Given the description of an element on the screen output the (x, y) to click on. 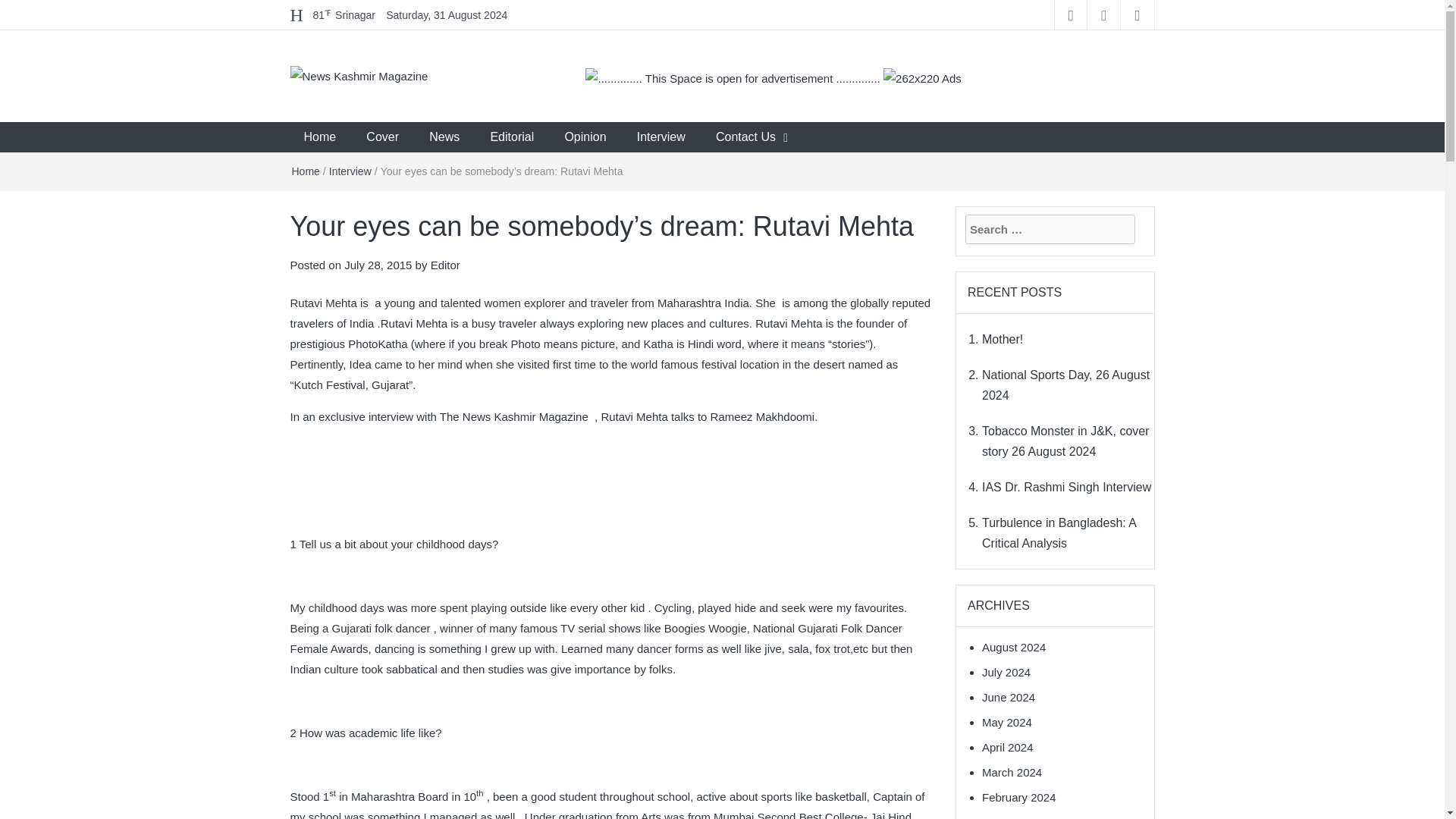
News (443, 137)
Contact Us (745, 137)
262x220 Ads (921, 69)
Home (304, 171)
Interview (660, 137)
News Kashmir Magazine (431, 127)
July 28, 2015 (377, 264)
Opinion (585, 137)
Clouds (344, 14)
Editorial (511, 137)
